Given the description of an element on the screen output the (x, y) to click on. 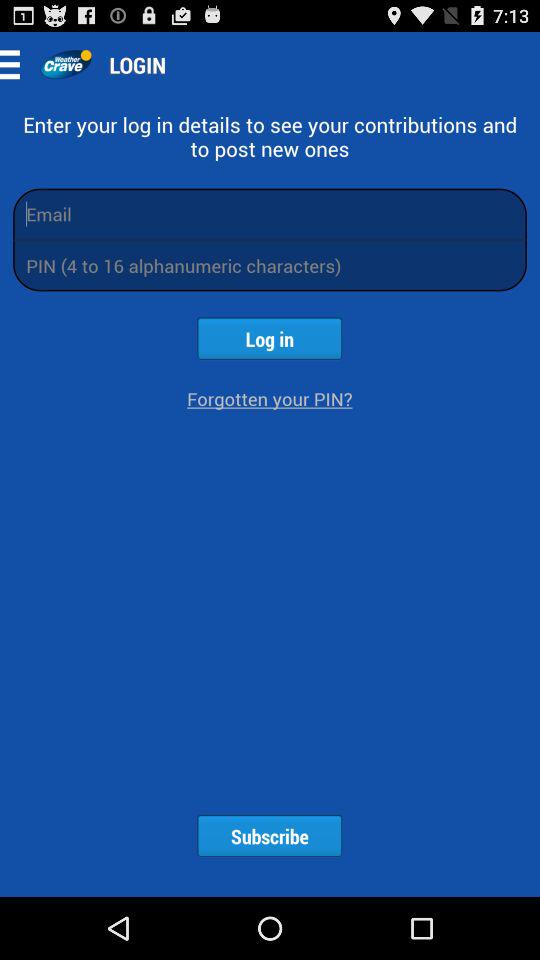
enter an email (269, 213)
